Given the description of an element on the screen output the (x, y) to click on. 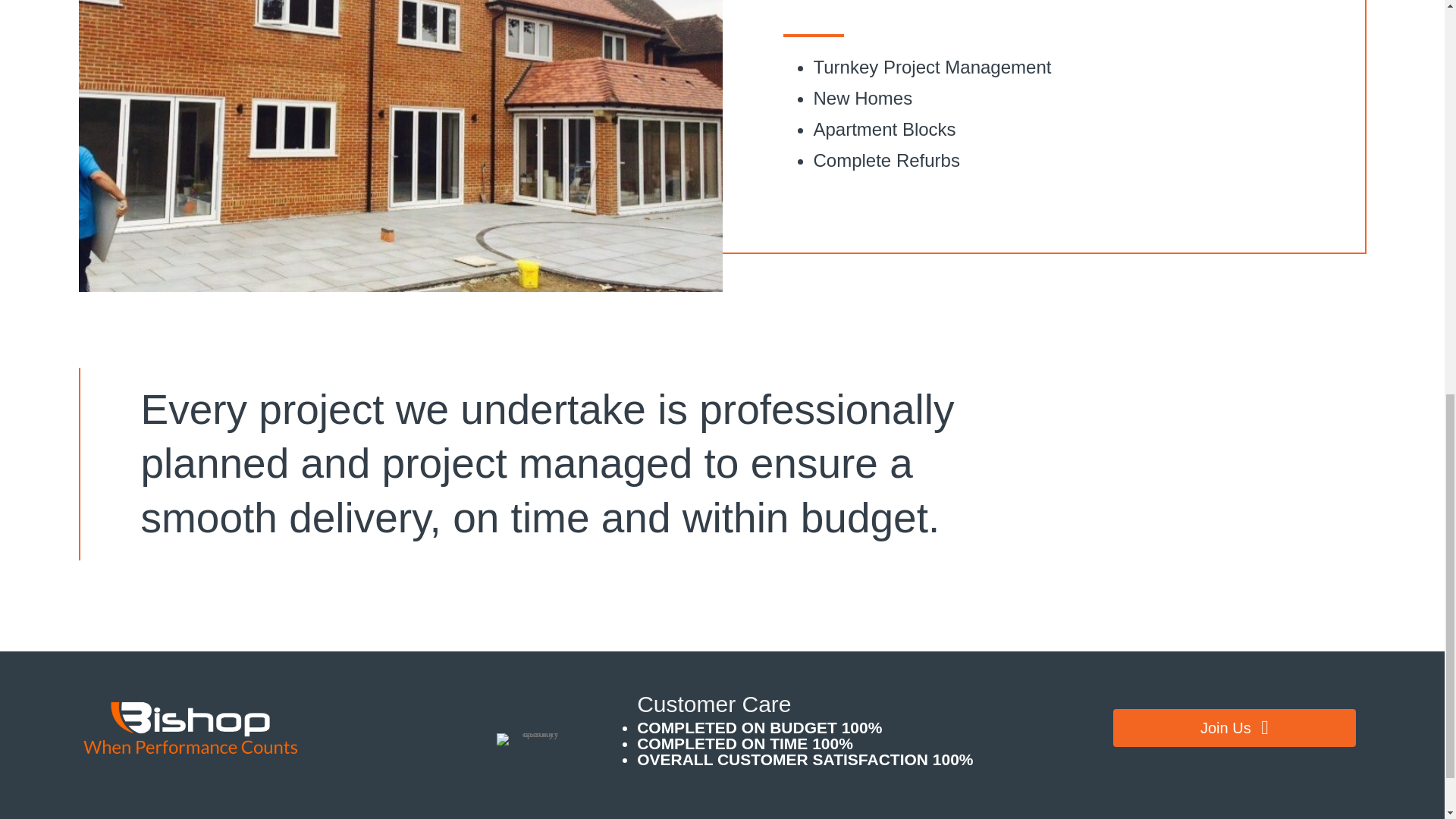
Bishop-Logo-new-scaled (193, 727)
quality-assurity (534, 739)
